Given the description of an element on the screen output the (x, y) to click on. 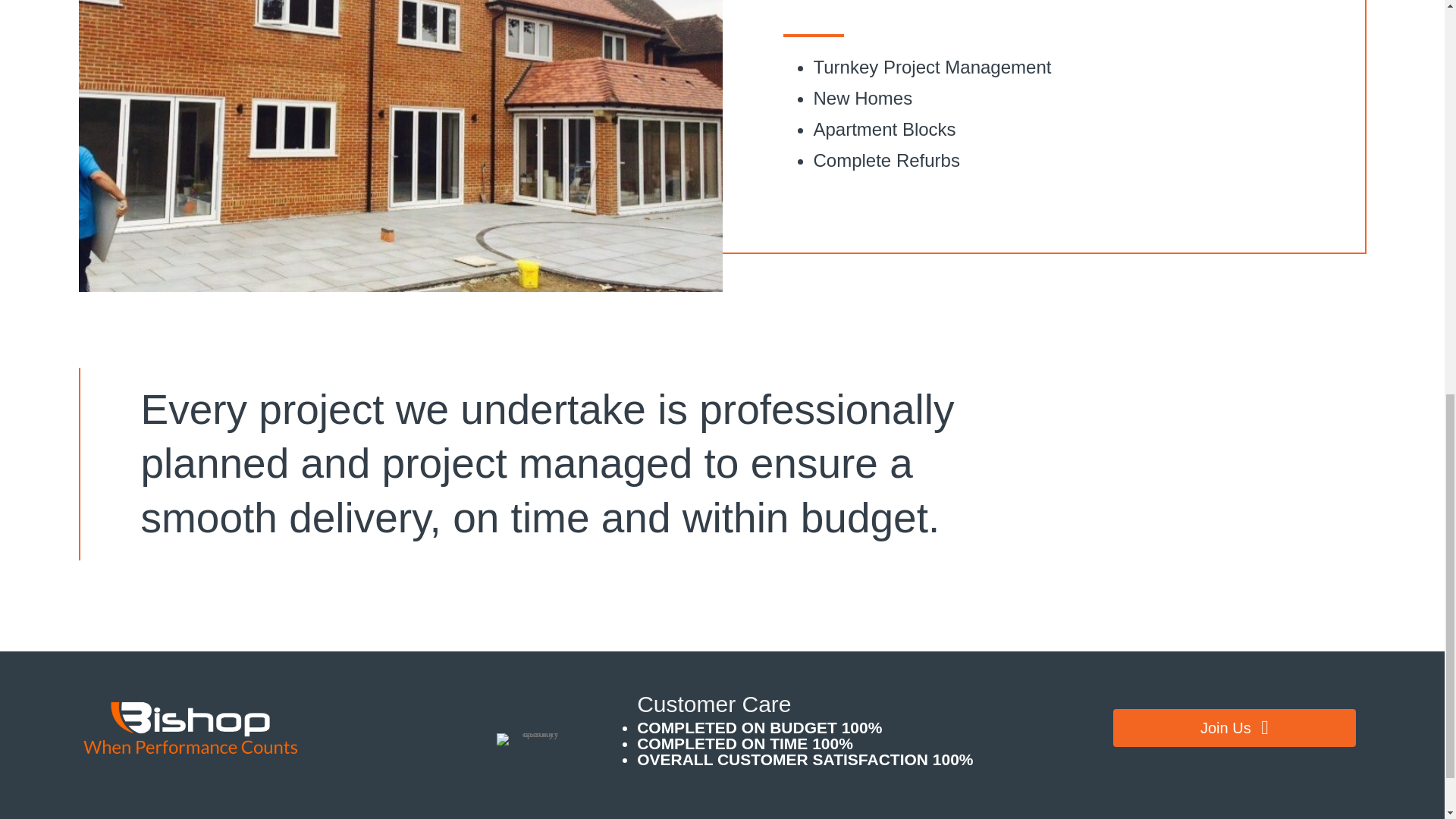
Bishop-Logo-new-scaled (193, 727)
quality-assurity (534, 739)
